Given the description of an element on the screen output the (x, y) to click on. 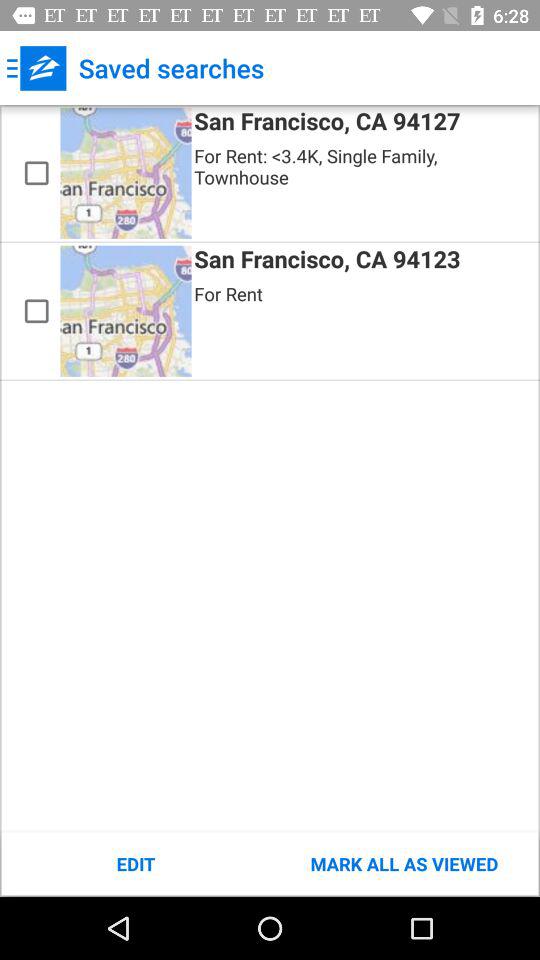
turn off the icon next to edit icon (404, 863)
